Given the description of an element on the screen output the (x, y) to click on. 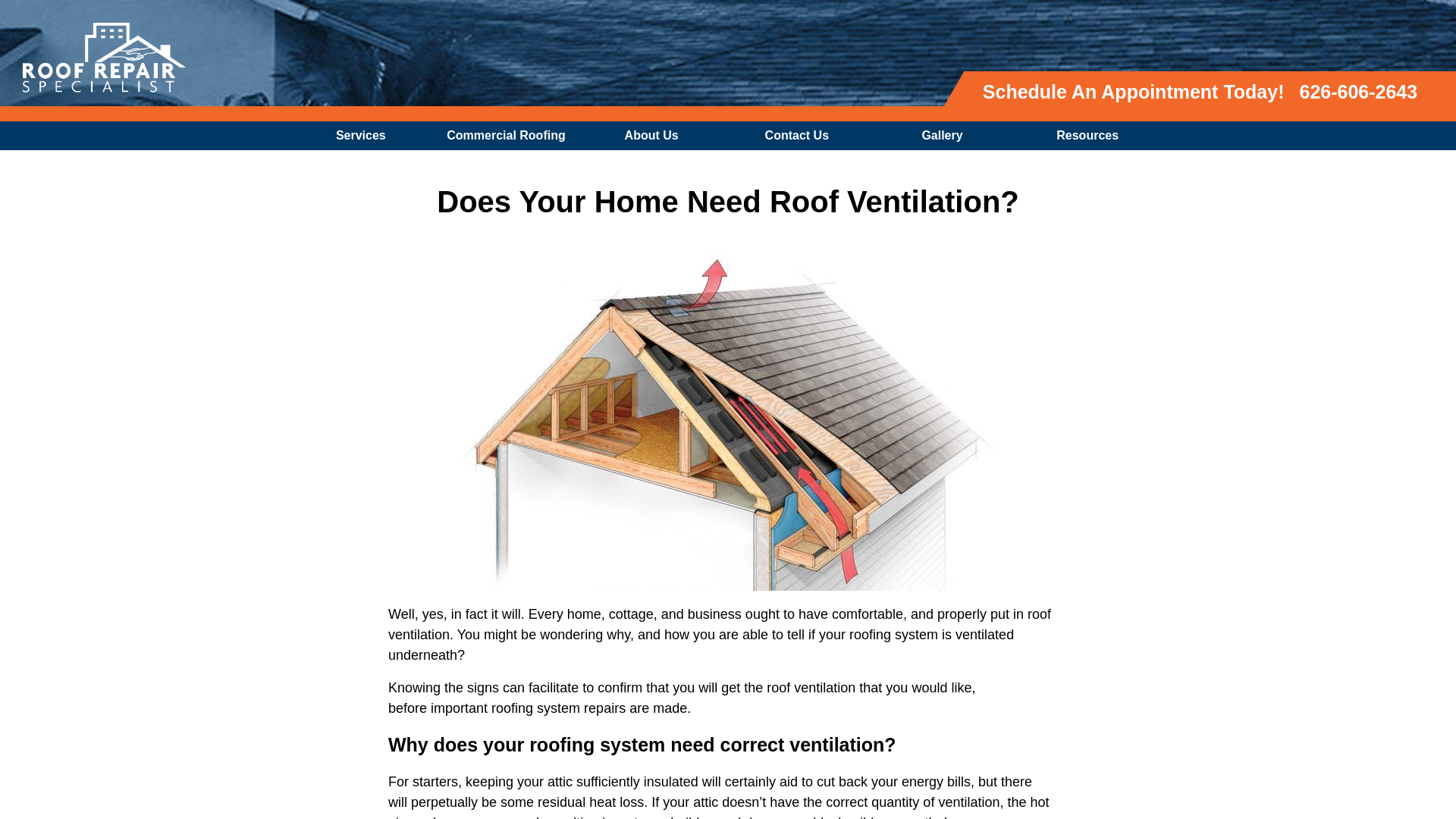
About Us (655, 135)
Services (365, 135)
Schedule An Appointment Today! (1133, 91)
Contact Us (800, 135)
626-606-2643 (1358, 91)
Commercial Roofing (510, 135)
